Given the description of an element on the screen output the (x, y) to click on. 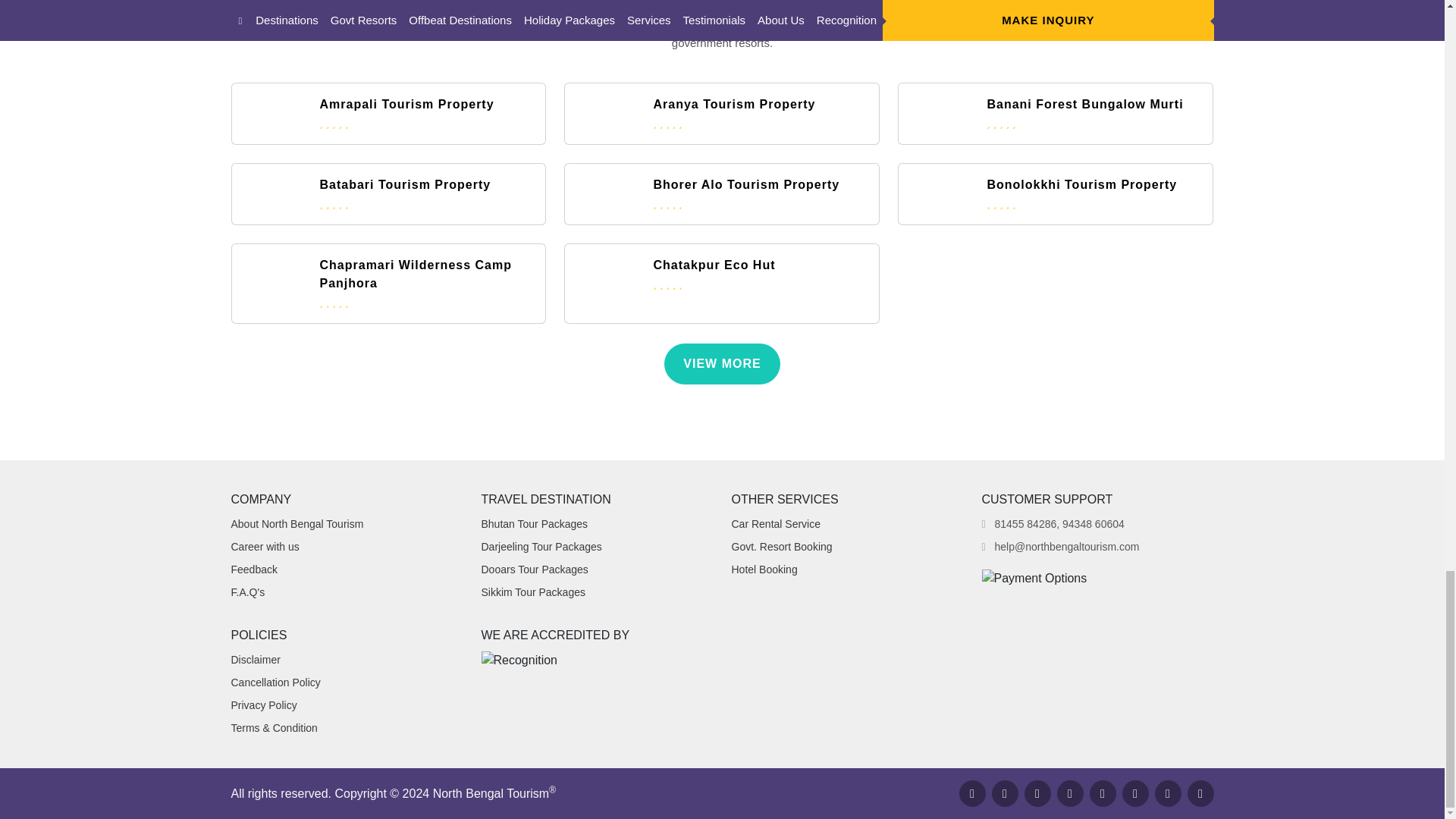
Dooars Tour (534, 569)
Bhutan Tour (534, 523)
Instagram (1036, 793)
North Bengal Tourism (491, 793)
Darjeeling Tour (540, 546)
Sikkim Tour (532, 592)
twitter (1004, 793)
Facebook (971, 793)
Linked in (1070, 793)
